Given the description of an element on the screen output the (x, y) to click on. 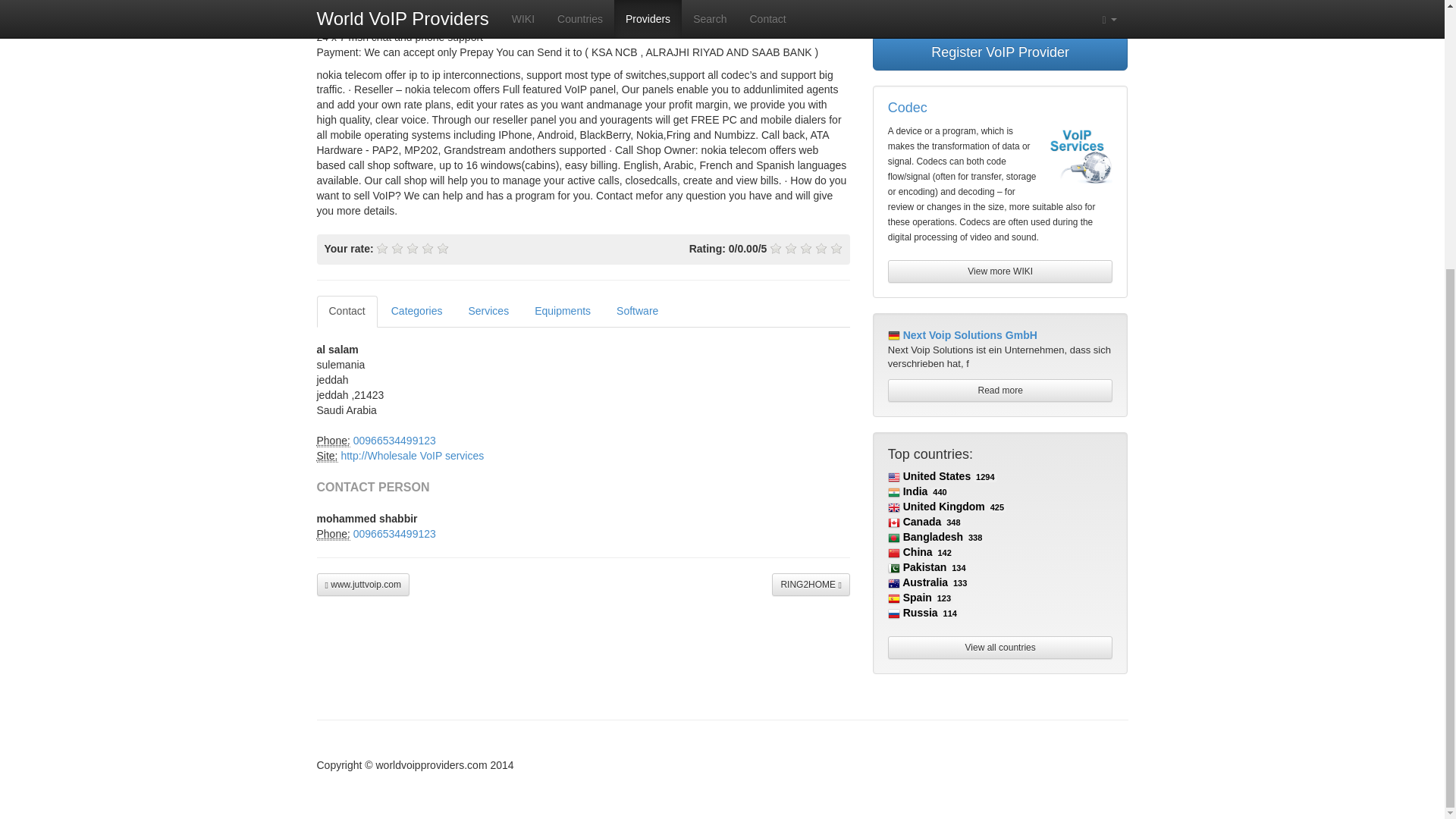
RING2HOME (809, 584)
Not rated yet! (775, 248)
4 (427, 248)
Codec (907, 107)
Canada (914, 521)
Not rated yet! (805, 248)
China (910, 551)
Contact (347, 311)
India (908, 491)
Provider site (327, 455)
2 (397, 248)
3 (412, 248)
Equipments (562, 311)
Spain (909, 597)
Not rated yet! (790, 248)
